Given the description of an element on the screen output the (x, y) to click on. 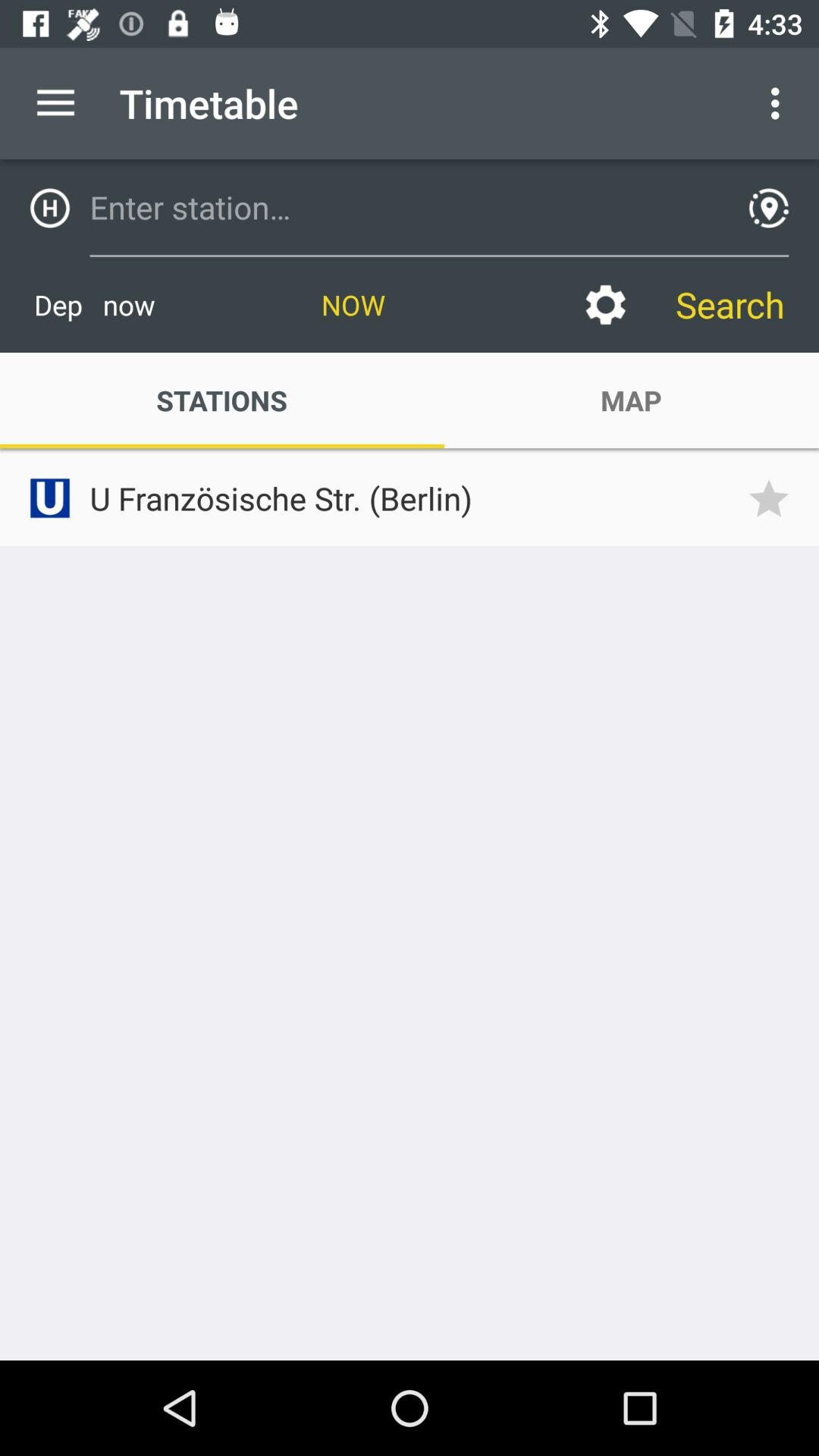
launch map item (631, 400)
